Given the description of an element on the screen output the (x, y) to click on. 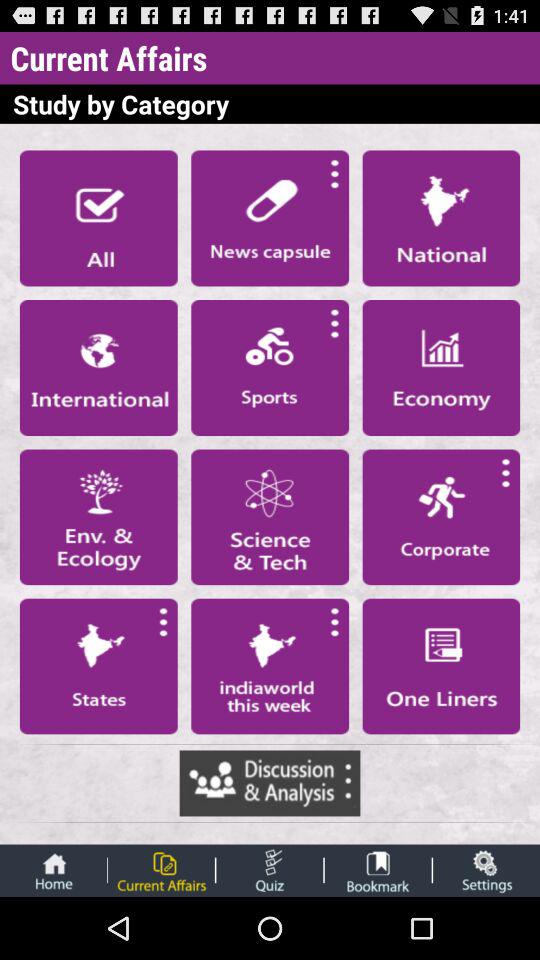
tap on a category of interest (98, 517)
